Given the description of an element on the screen output the (x, y) to click on. 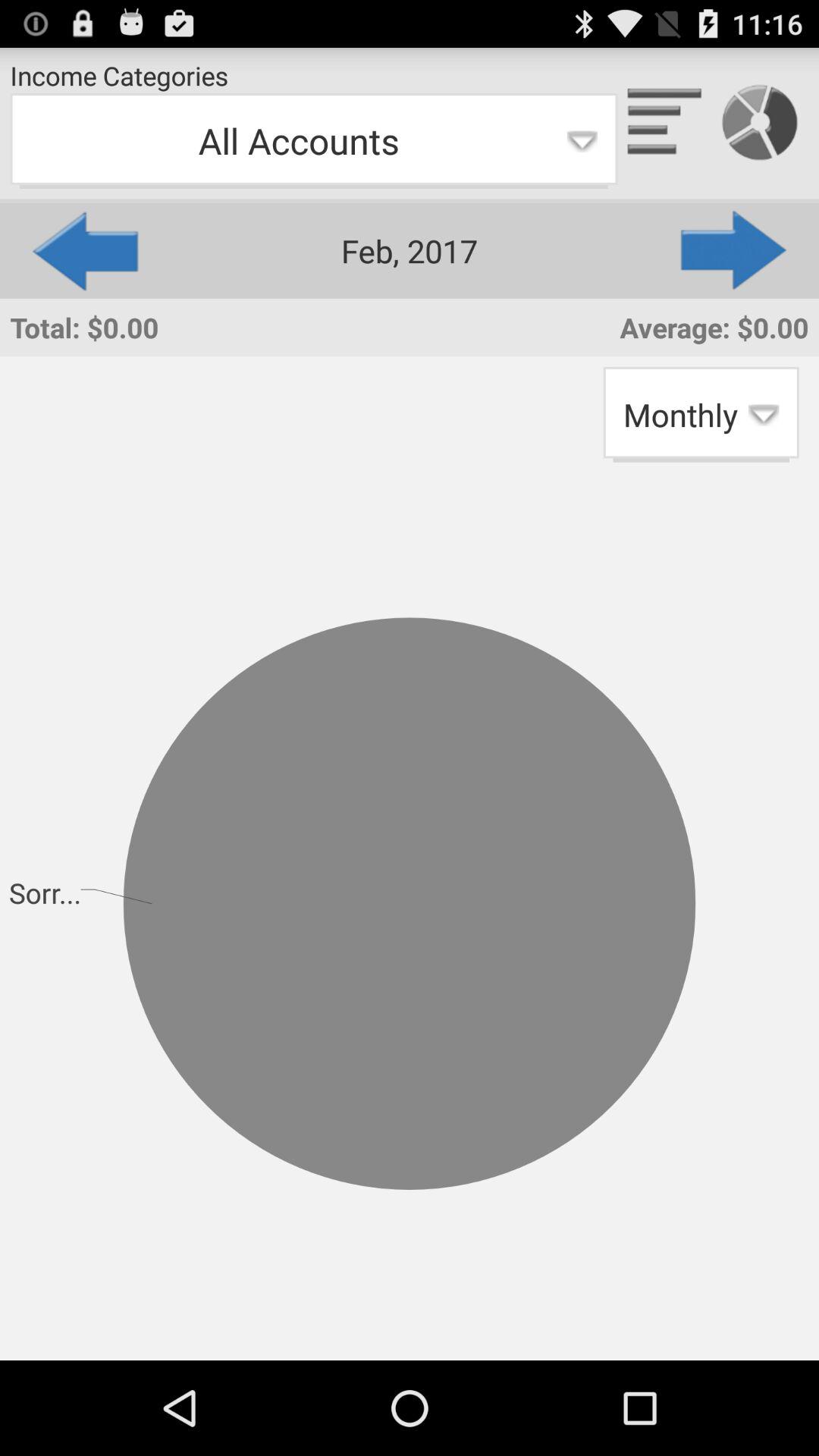
next button (735, 250)
